Given the description of an element on the screen output the (x, y) to click on. 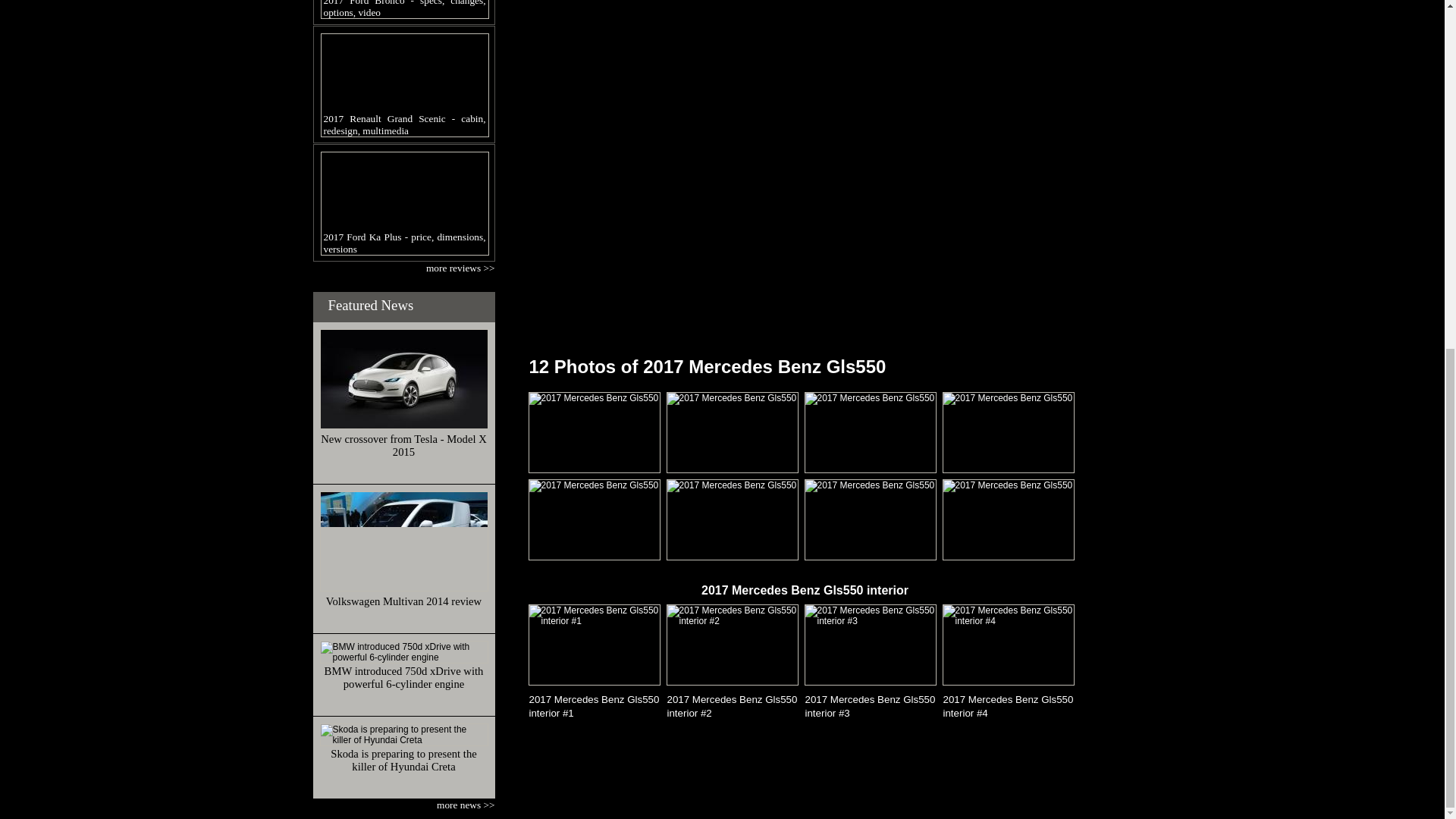
2017 Mercedes Benz Gls550 (594, 432)
2017 Mercedes Benz Gls550 (731, 432)
New crossover from Tesla - Model X 2015 (403, 379)
2017 Ford Bronco - specs, changes, options, video (403, 9)
2017 Mercedes Benz Gls550 (870, 432)
2017 Ford Ka Plus - price, dimensions, versions (403, 203)
Skoda is preparing to present the killer of Hyundai Creta (403, 760)
BMW introduced 750d xDrive with powerful 6-cylinder engine (403, 677)
Volkswagen Multivan 2014 review (403, 541)
2017 Renault Grand Scenic - cabin, redesign, multimedia (403, 85)
Skoda is preparing to present the killer of Hyundai Creta (403, 734)
Volkswagen Multivan 2014 review (403, 601)
2017 Renault Grand Scenic - cabin, redesign, multimedia (403, 85)
BMW introduced 750d xDrive with powerful 6-cylinder engine (403, 651)
New crossover from Tesla - Model X 2015 (403, 445)
